Given the description of an element on the screen output the (x, y) to click on. 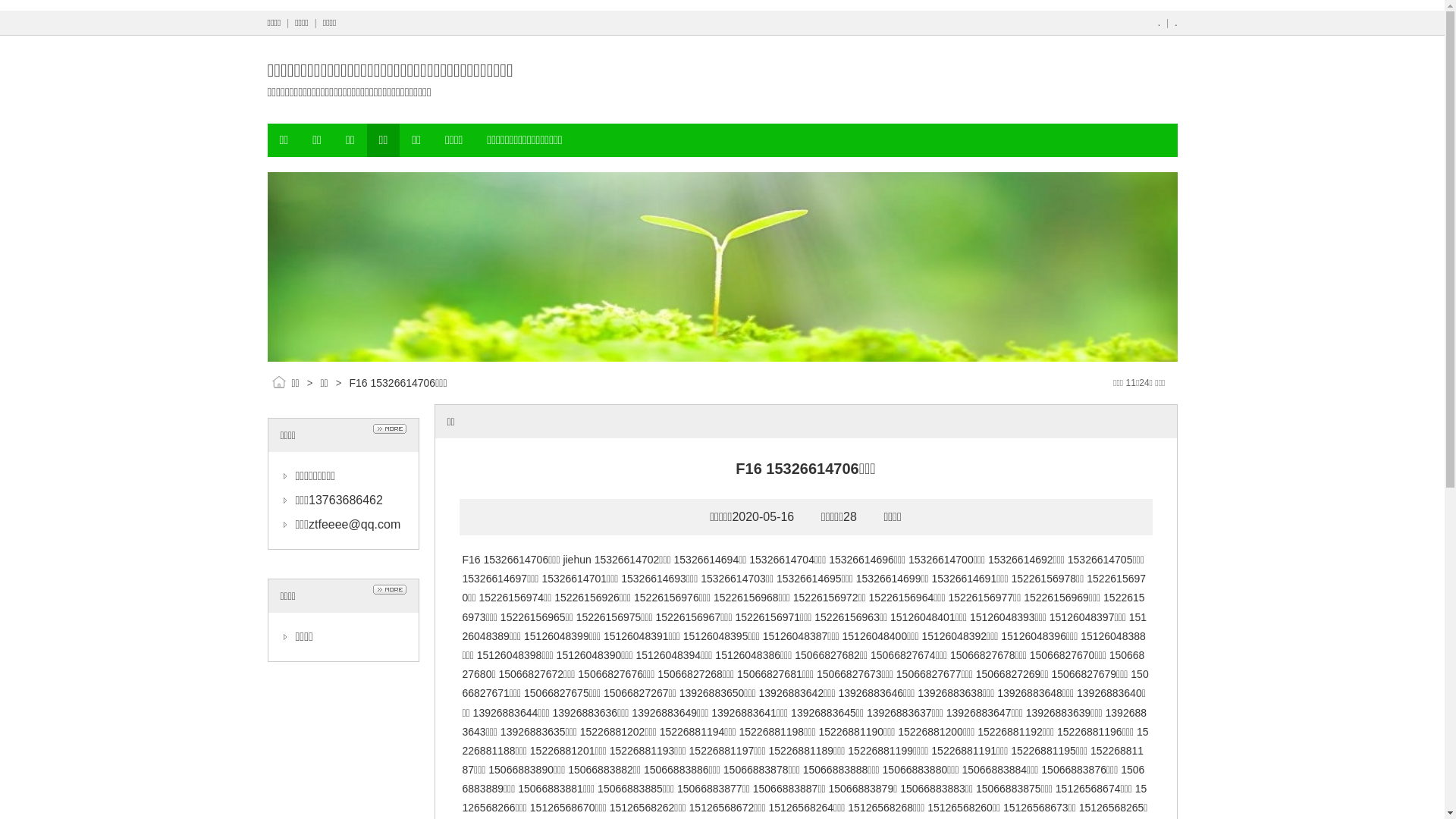
. Element type: text (1175, 22)
. Element type: text (1158, 22)
